Given the description of an element on the screen output the (x, y) to click on. 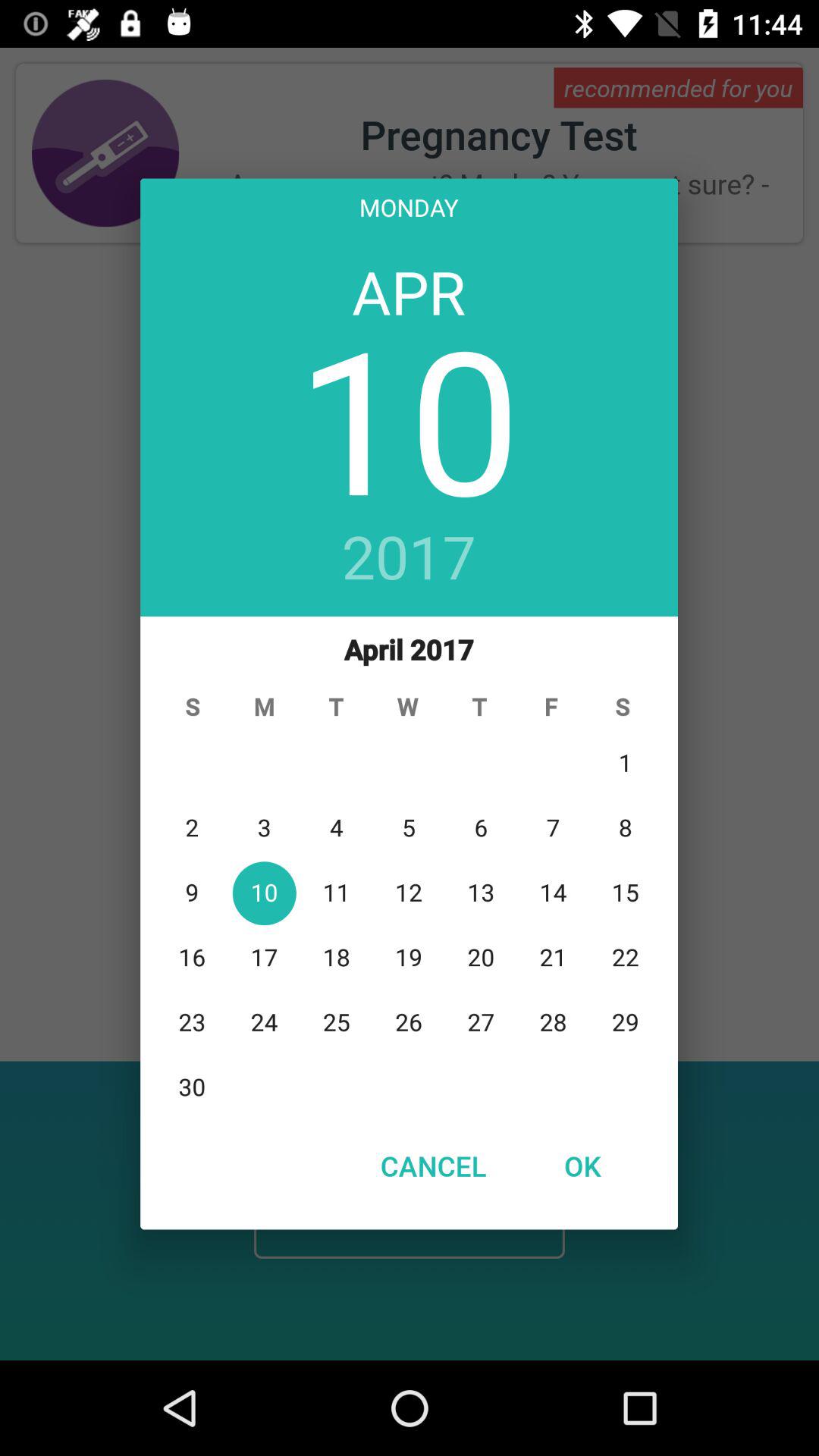
click item to the right of cancel (582, 1165)
